Given the description of an element on the screen output the (x, y) to click on. 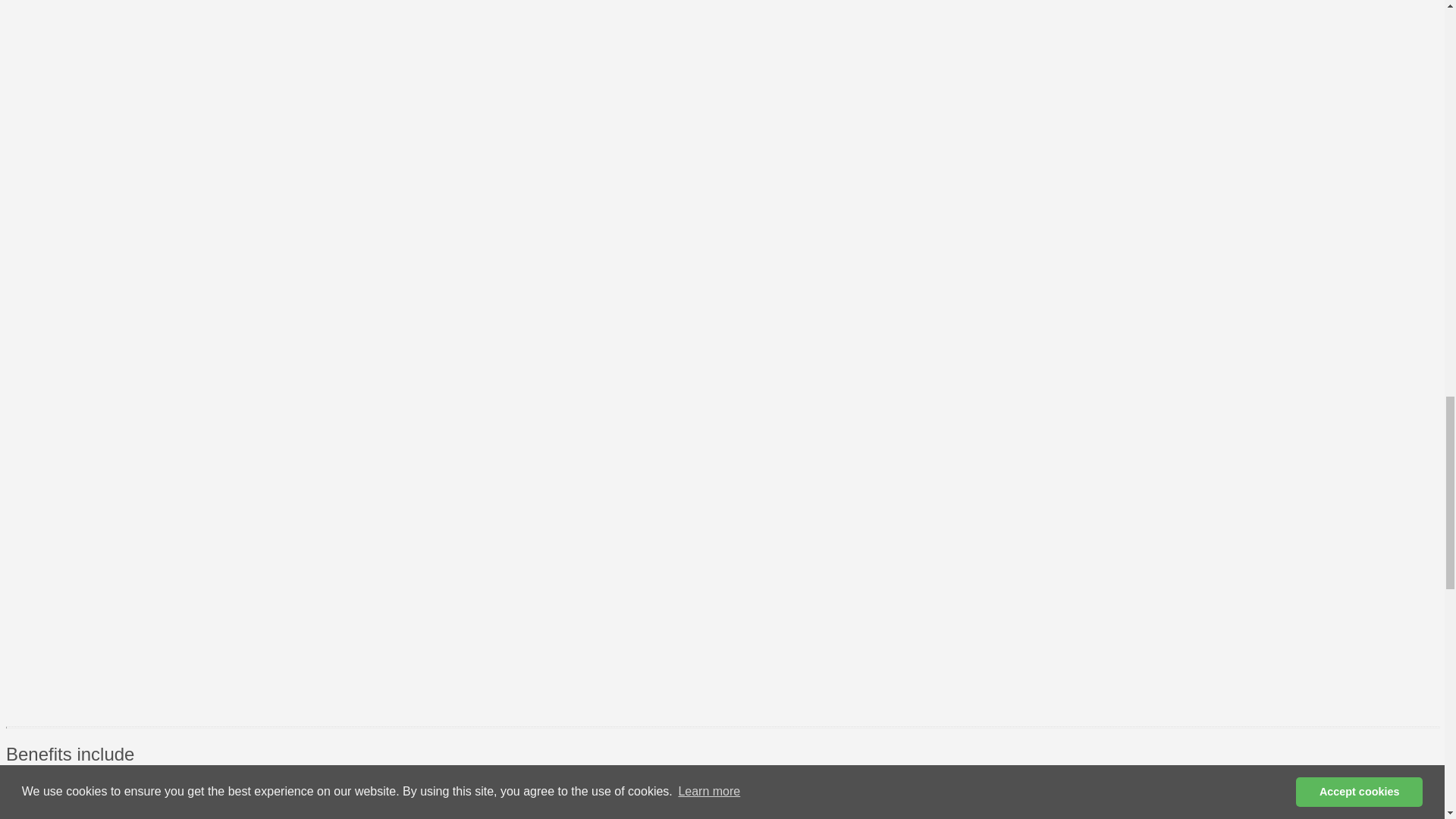
3rd party ad content (774, 199)
3rd party ad content (774, 407)
3rd party ad content (774, 42)
3rd party ad content (774, 616)
